Given the description of an element on the screen output the (x, y) to click on. 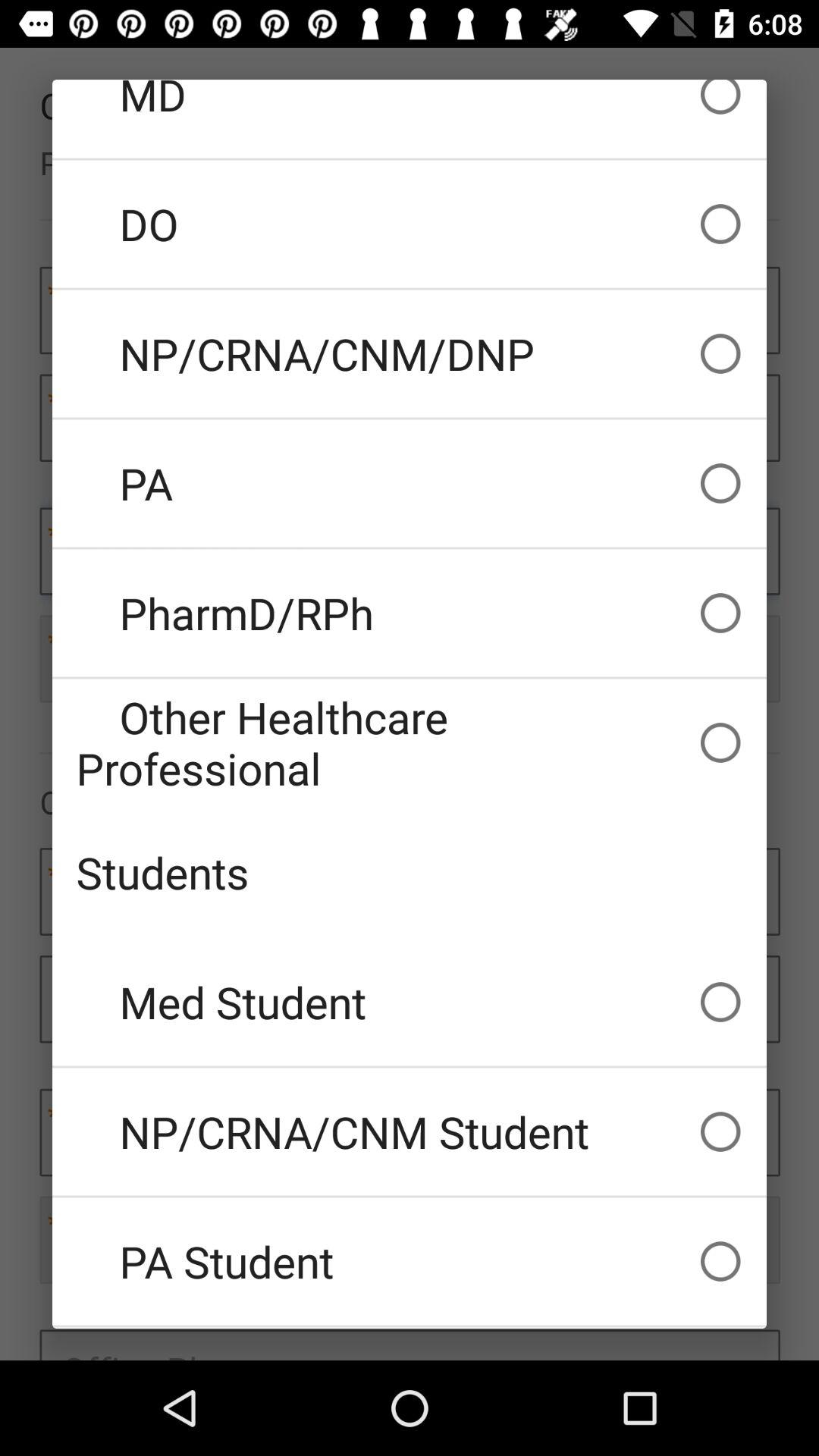
turn on item below the     pharmd/rph icon (409, 742)
